Given the description of an element on the screen output the (x, y) to click on. 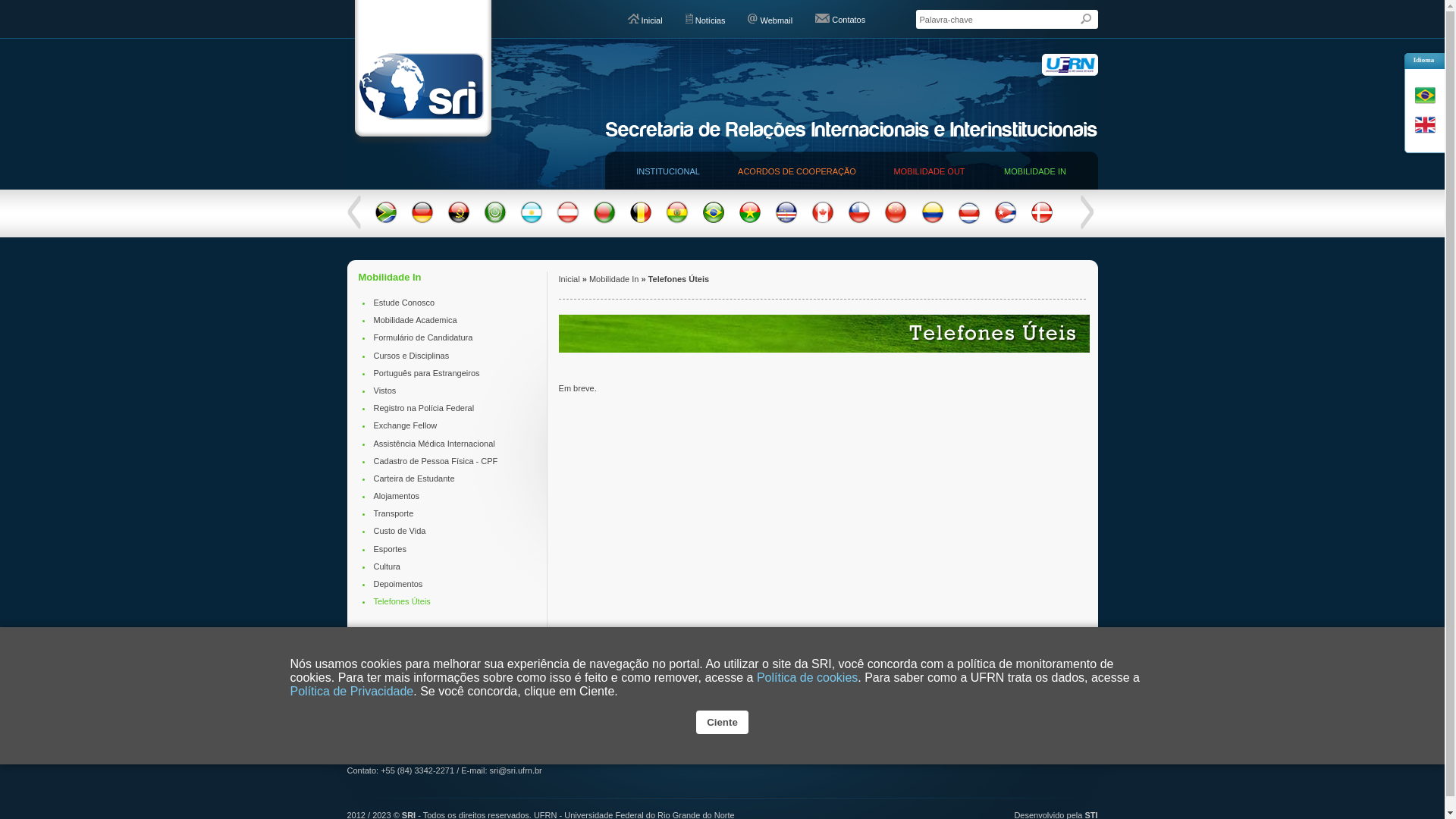
Cursos e Disciplinas Element type: text (410, 355)
Holanda Element type: hover (1407, 220)
Carteira de Estudante Element type: text (413, 478)
Chile Element type: hover (858, 220)
INSTITUCIONAL Element type: text (667, 170)
sri@sri.ufrn.br Element type: text (515, 770)
MOBILIDADE OUT Element type: text (928, 170)
Vistos Element type: text (384, 390)
Colombia Element type: hover (931, 220)
Alemanha Element type: hover (422, 220)
Inicial Element type: text (569, 278)
Cuba Element type: hover (1005, 220)
MOBILIDADE IN Element type: text (1035, 170)
Alojamentos Element type: text (396, 495)
Espanha Element type: hover (1188, 220)
Exchange Fellow Element type: text (404, 424)
UFRN - Universidade Federal do Rio Grande do Norte Element type: hover (1069, 63)
Angola Element type: hover (458, 220)
Transporte Element type: text (393, 512)
Argentina Element type: hover (531, 220)
Ciente Element type: text (722, 722)
Brasil Element type: hover (713, 220)
Estados Unidos Element type: hover (1261, 220)
Costa Rica Element type: hover (968, 220)
China Element type: hover (895, 220)
Contatos Element type: text (840, 19)
Custo de Vida Element type: text (399, 530)
Bangladesh Element type: hover (604, 220)
Inicial Element type: text (644, 20)
Depoimentos Element type: text (397, 583)
English Element type: hover (1426, 124)
Estude Conosco Element type: text (403, 302)
Honduras Element type: hover (1443, 220)
SRI no Facebook Element type: hover (1085, 715)
Equador Element type: hover (1115, 220)
Voltar Element type: hover (353, 212)
Efetuar busca Element type: hover (1088, 22)
Burkina Faso Element type: hover (749, 220)
Mobilidade Academica Element type: text (414, 319)
Siga a SRI no Twitter Element type: hover (1053, 715)
Webmail Element type: text (769, 20)
Esportes Element type: text (389, 548)
Cabo Verde Element type: hover (786, 220)
Cultura Element type: text (386, 566)
Dinamarca Element type: hover (1041, 220)
